Given the description of an element on the screen output the (x, y) to click on. 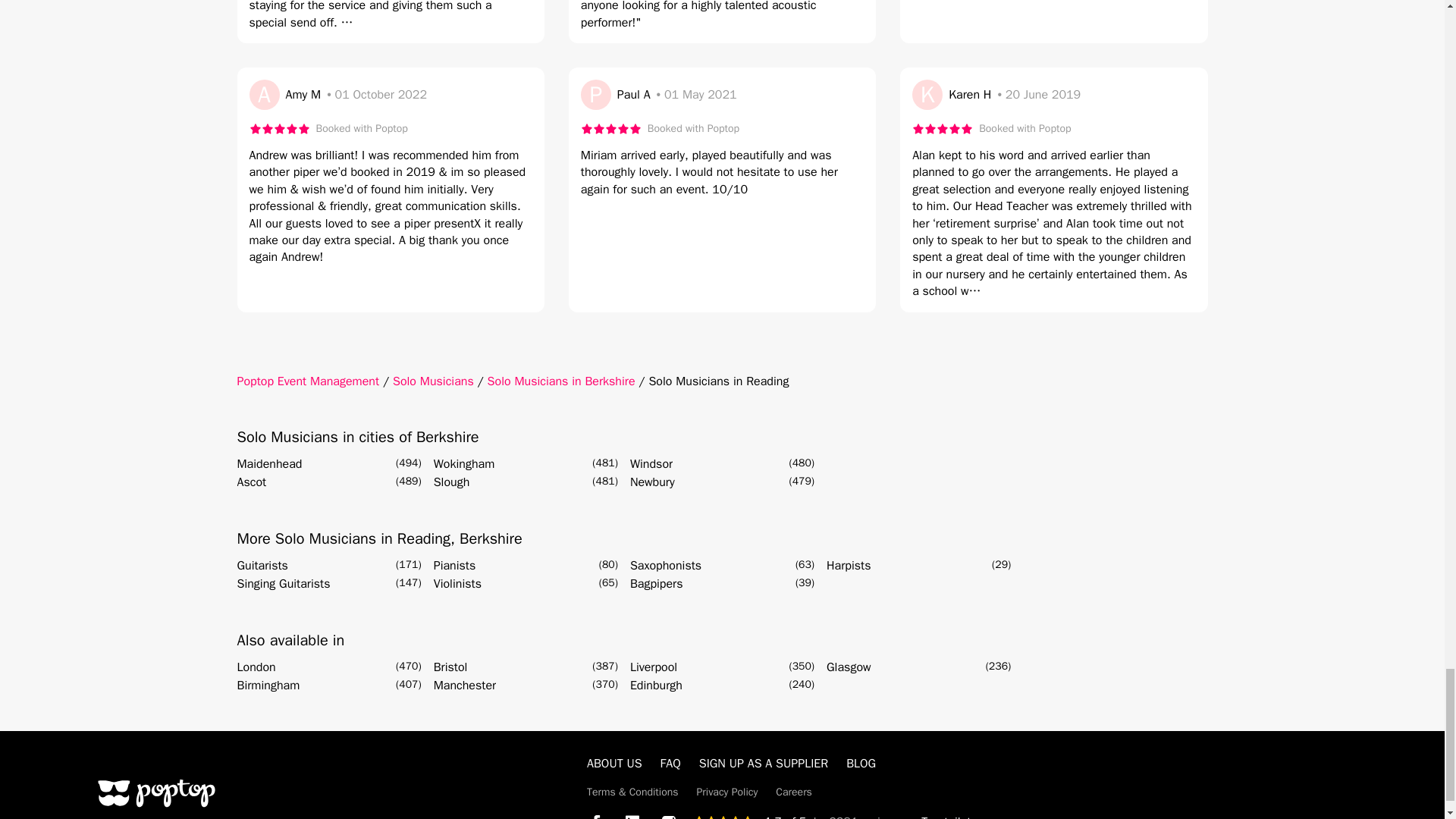
Maidenhead (268, 464)
Wokingham (464, 464)
Slough (451, 482)
Newbury (652, 482)
Singing Guitarists (282, 583)
Poptop Event Management (306, 381)
Solo Musicians in Berkshire (560, 381)
Pianists (454, 565)
Saxophonists (665, 565)
Windsor (651, 464)
London (255, 667)
Bagpipers (656, 583)
Solo Musicians (433, 381)
Guitarists (260, 565)
Ascot (250, 482)
